Given the description of an element on the screen output the (x, y) to click on. 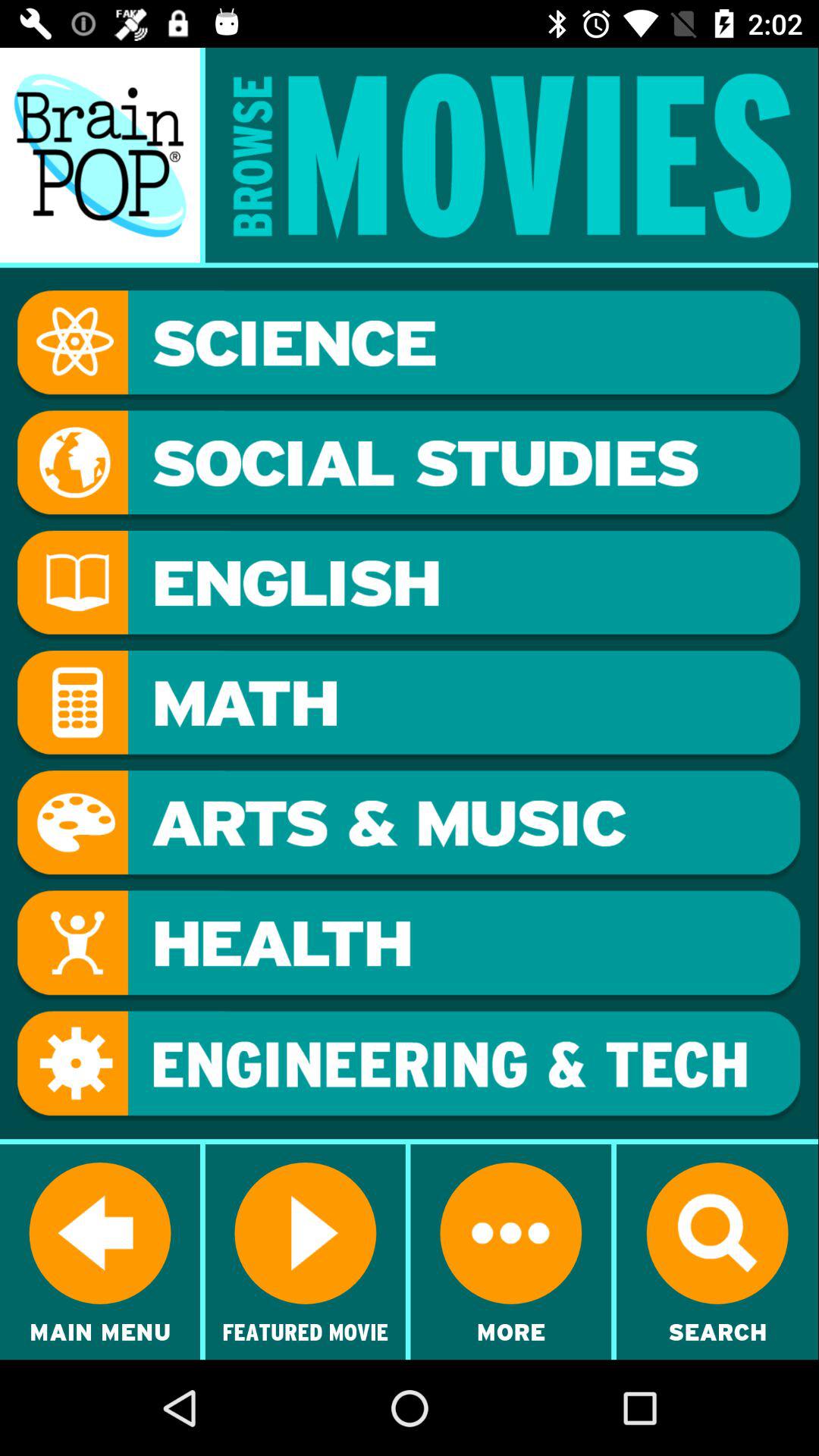
select english (408, 584)
